Given the description of an element on the screen output the (x, y) to click on. 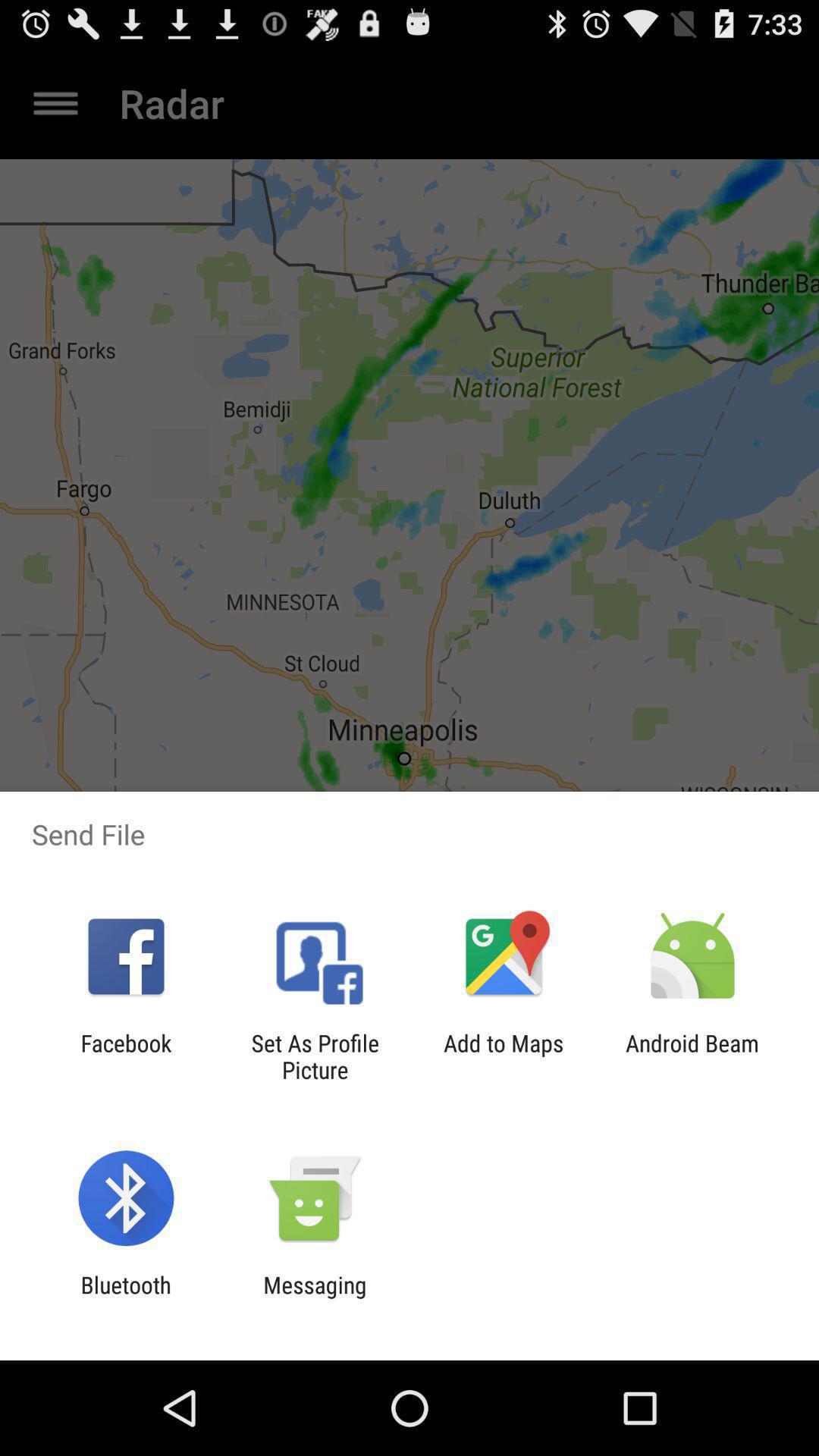
turn off the item to the right of the set as profile item (503, 1056)
